Given the description of an element on the screen output the (x, y) to click on. 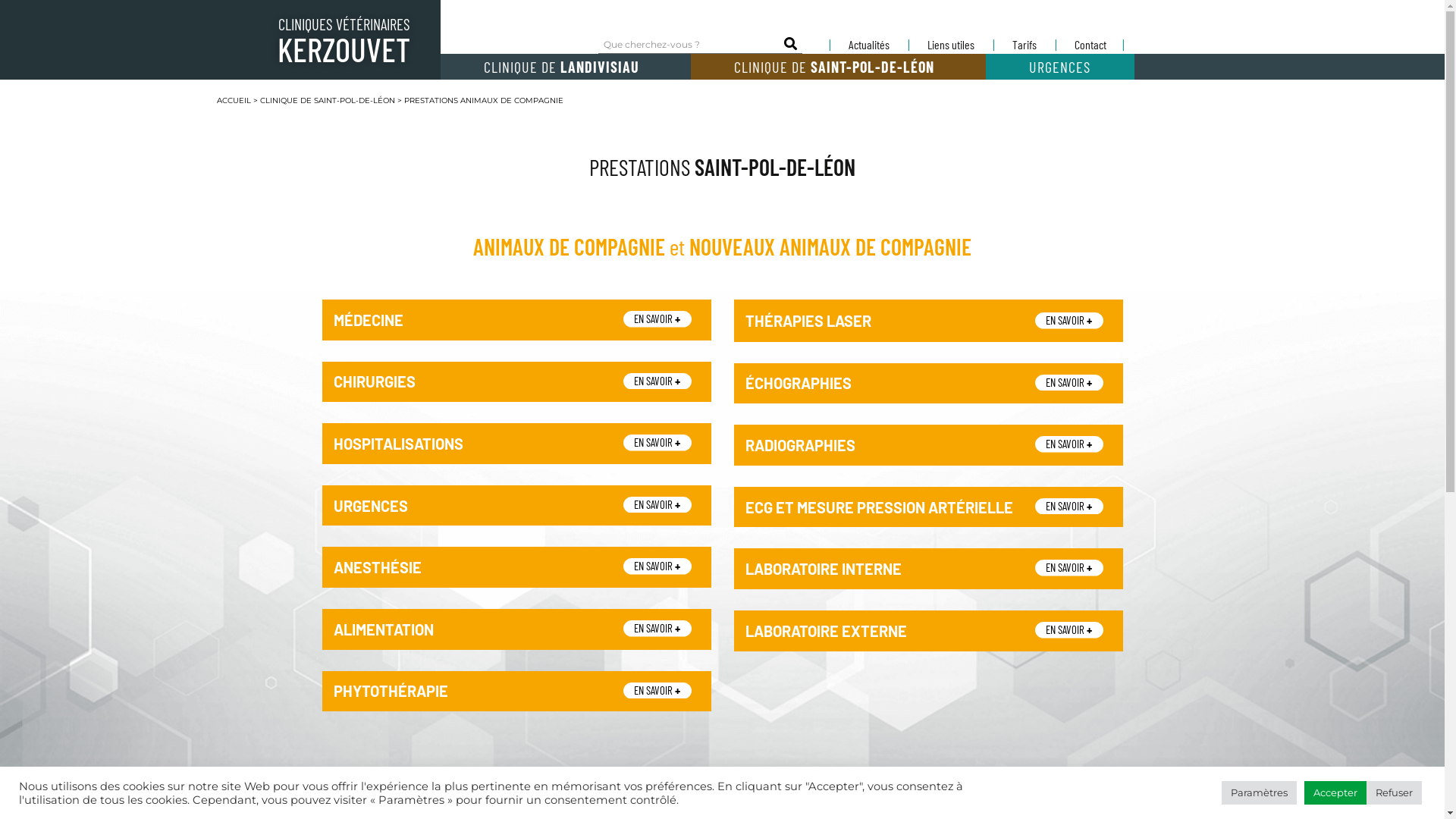
LABORATOIRE INTERNE Element type: text (822, 568)
ACCUEIL Element type: text (233, 100)
URGENCES Element type: text (1059, 66)
URGENCES Element type: text (370, 505)
LABORATOIRE EXTERNE Element type: text (825, 630)
HOSPITALISATIONS Element type: text (398, 443)
RADIOGRAPHIES Element type: text (799, 444)
Contact Element type: text (1090, 44)
Accepter Element type: text (1335, 792)
ALIMENTATION Element type: text (383, 629)
Liens utiles Element type: text (950, 44)
Tarifs Element type: text (1024, 44)
CHIRURGIES Element type: text (374, 381)
CLINIQUE DE
LANDIVISIAU Element type: text (564, 66)
Refuser Element type: text (1393, 792)
